Given the description of an element on the screen output the (x, y) to click on. 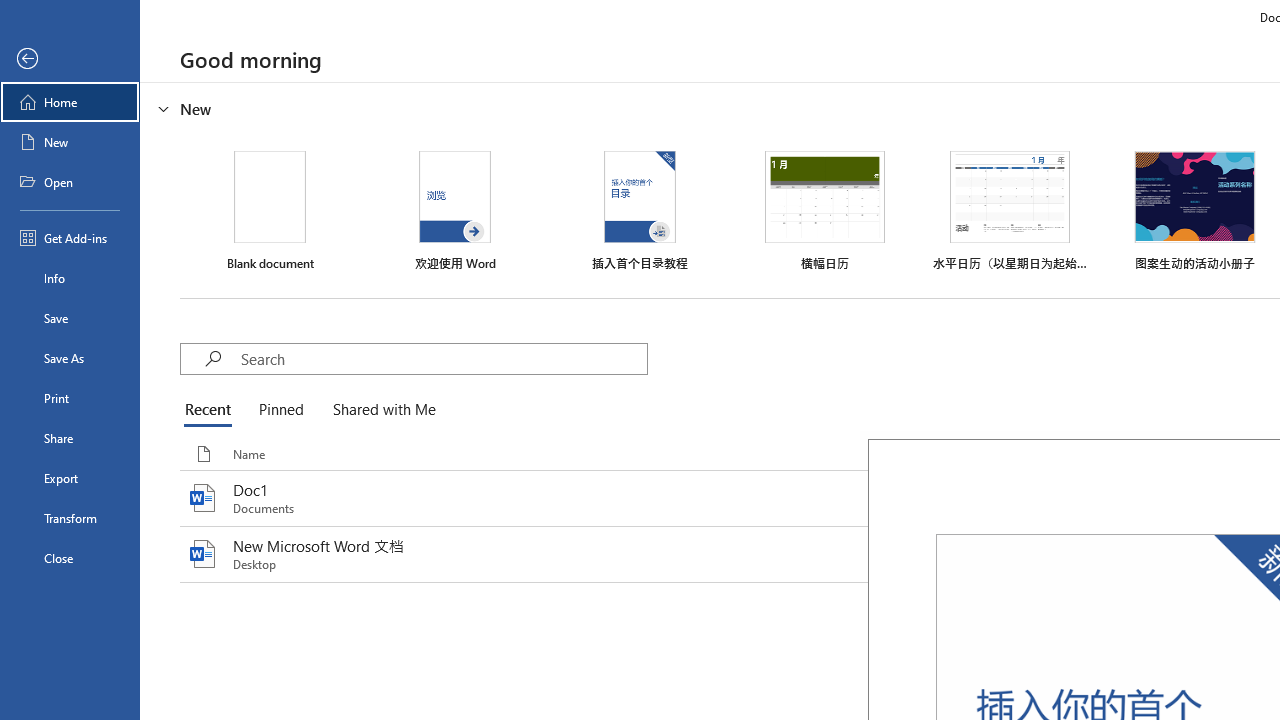
Hide or show region (164, 108)
Home (69, 101)
Shared with Me (379, 410)
Export (69, 477)
Close (69, 557)
Get Add-ins (69, 237)
System (10, 11)
Pinned (280, 410)
New (69, 141)
Back (69, 59)
Save As (69, 357)
Save (69, 317)
Blank document (269, 211)
Info (69, 277)
